Given the description of an element on the screen output the (x, y) to click on. 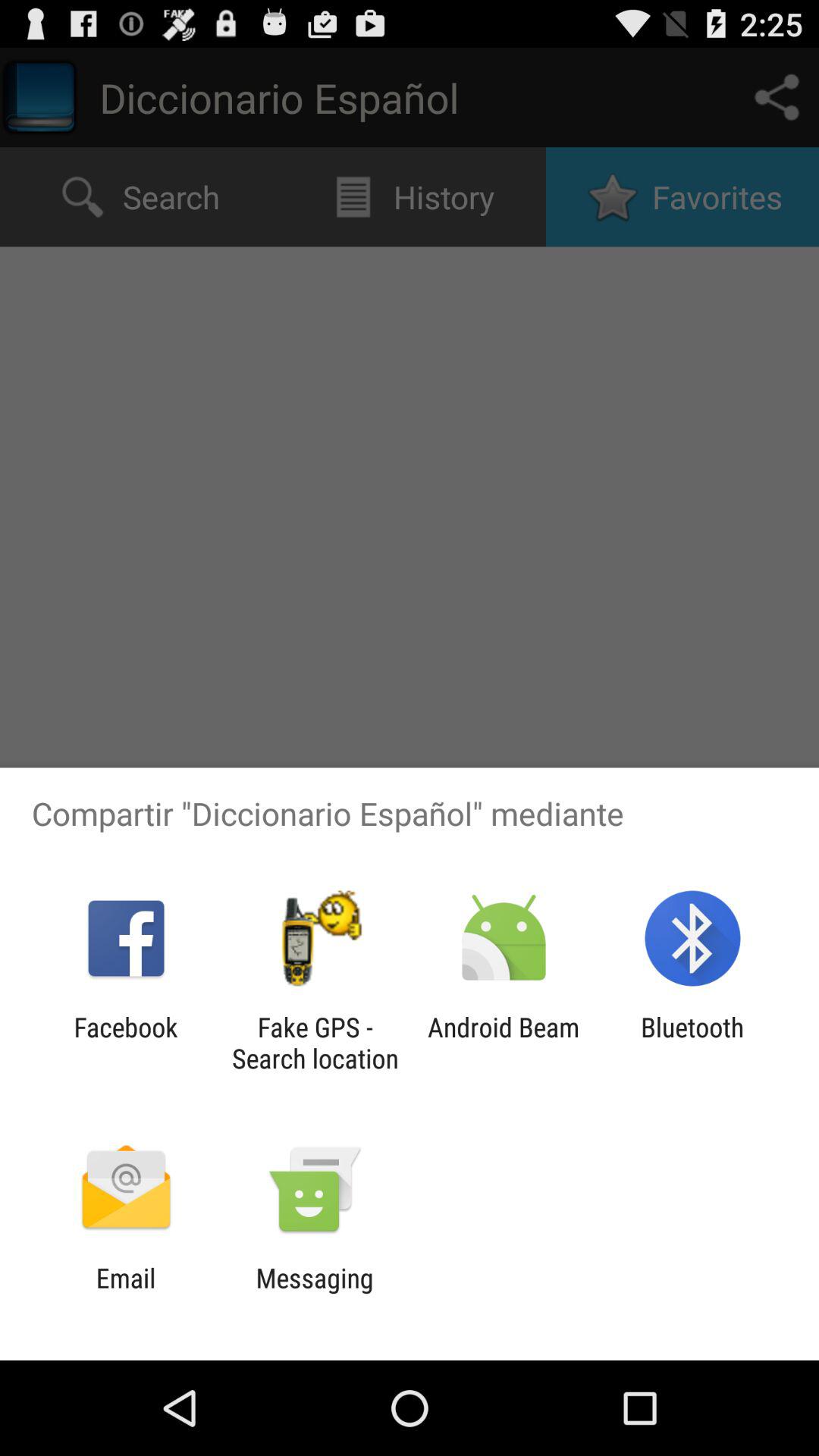
turn on the fake gps search item (314, 1042)
